Given the description of an element on the screen output the (x, y) to click on. 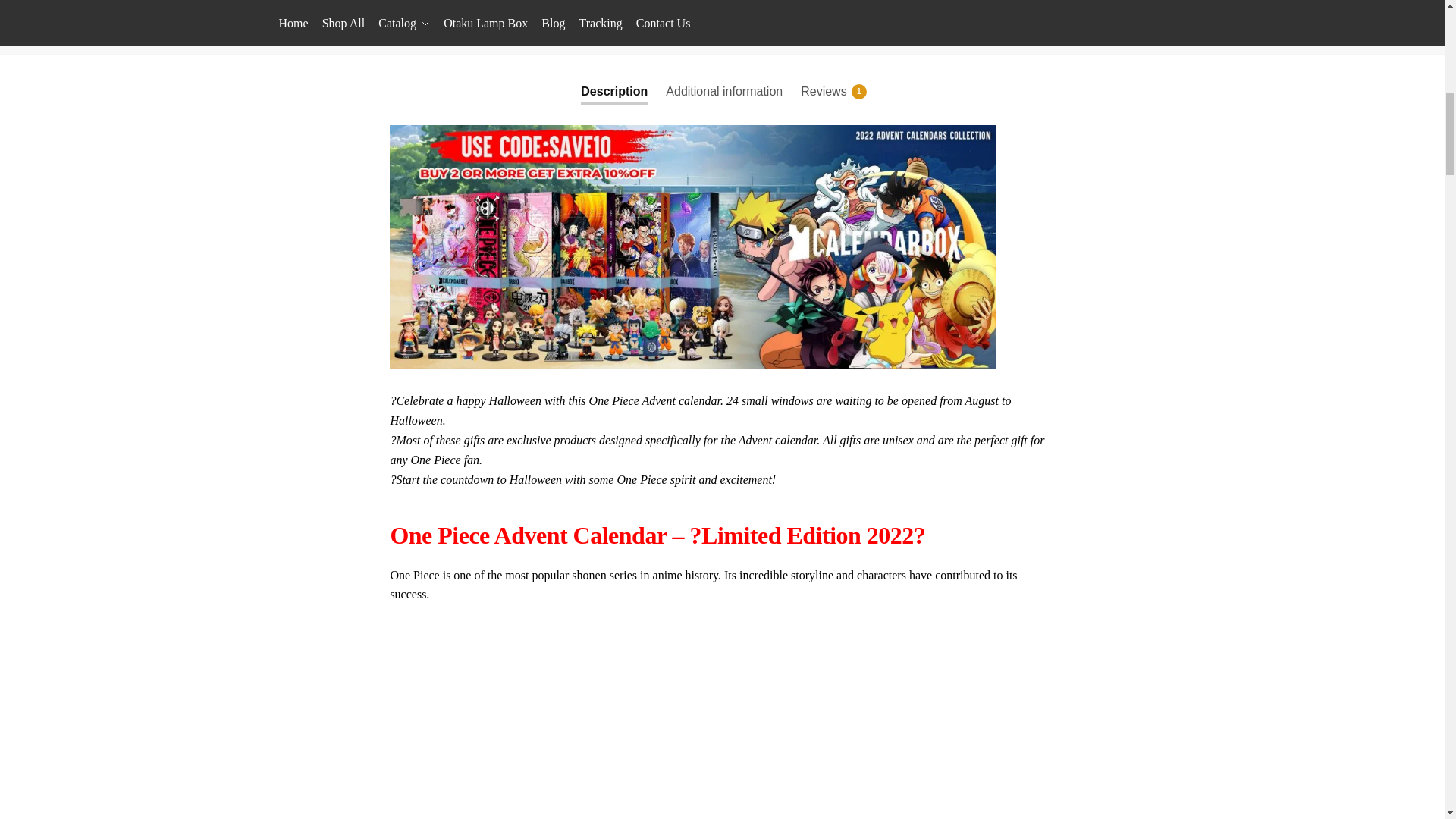
One Piece Advent Calendar - Adventure 2022-N1-logo (369, 15)
One Piece Advent Calendar - Adventure 2022-N2 (746, 15)
One Piece Advent Calendar - limited edition - 4 (619, 15)
One Piece Advent Calendar - Adventure 2022-N1 (494, 15)
